Given the description of an element on the screen output the (x, y) to click on. 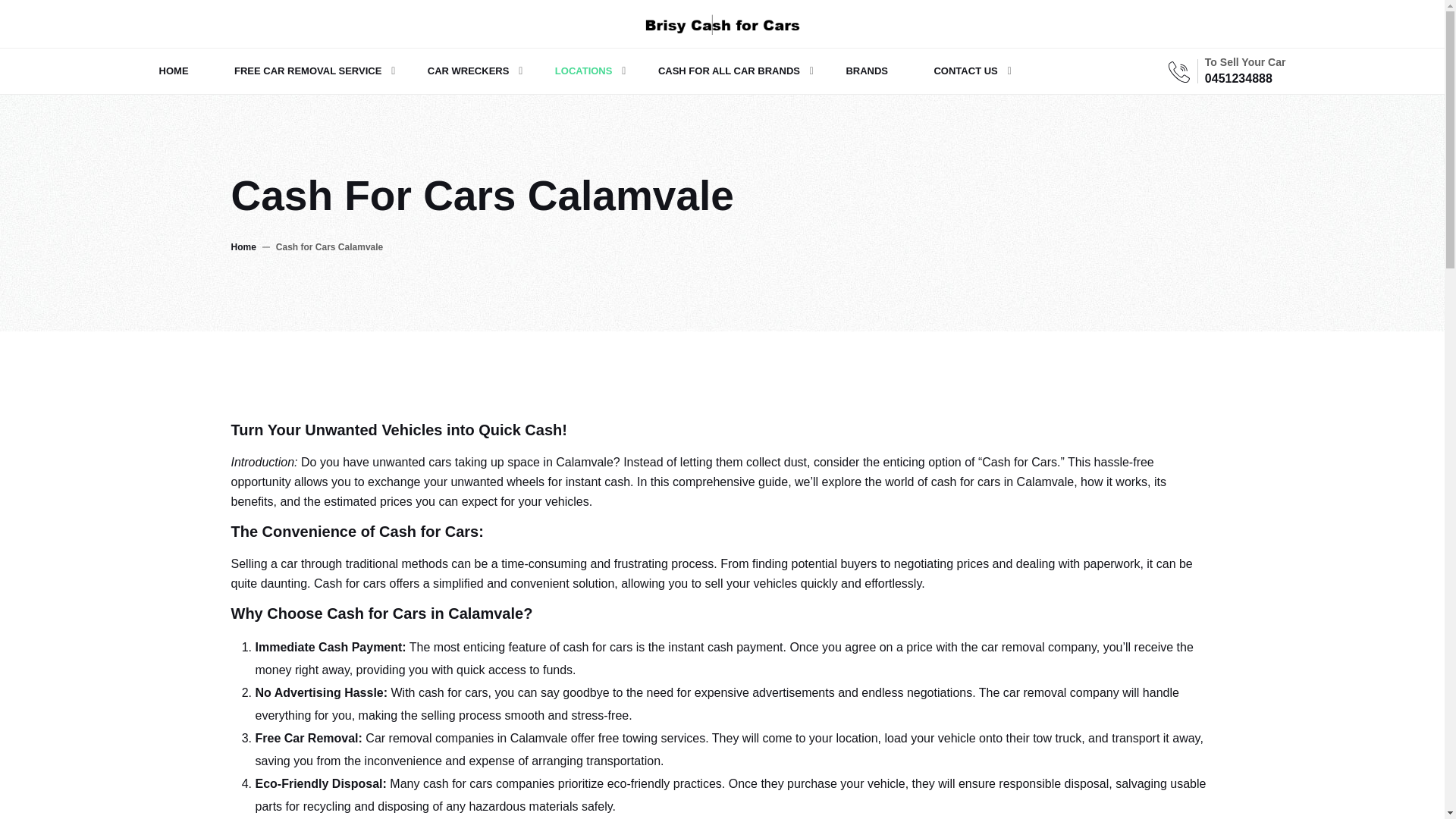
0451234888 (1238, 78)
CASH FOR ALL CAR BRANDS (729, 71)
CAR WRECKERS (468, 71)
Home (243, 246)
LOCATIONS (583, 71)
HOME (180, 71)
FREE CAR REMOVAL SERVICE (307, 71)
CONTACT US (964, 71)
Brisy Cash for cars (722, 22)
